Given the description of an element on the screen output the (x, y) to click on. 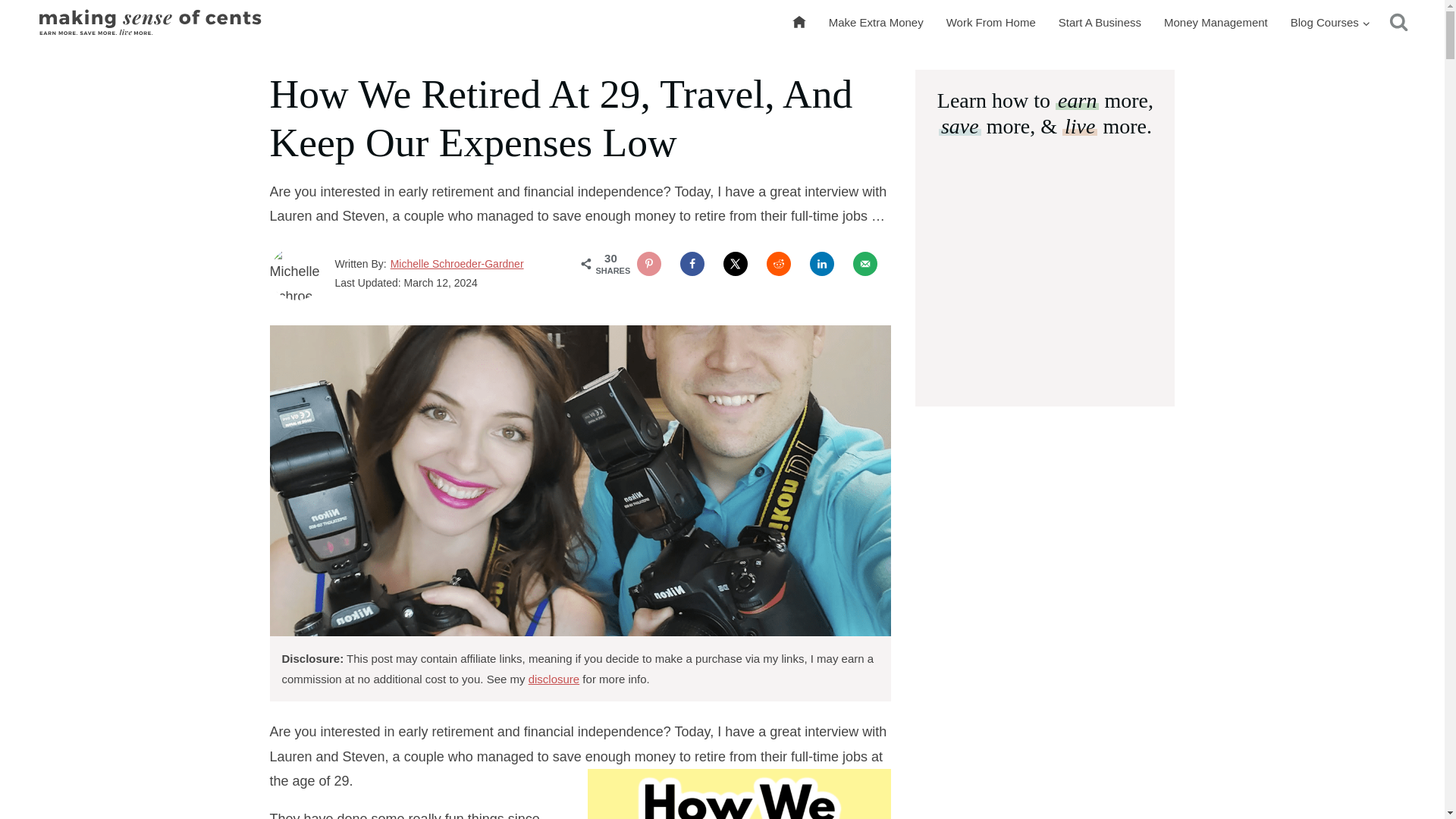
Money Management (1216, 22)
Start A Business (1099, 22)
Share on Facebook (691, 263)
disclosure (553, 678)
Work From Home (990, 22)
Save to Pinterest (649, 263)
Share on X (735, 263)
Share on LinkedIn (821, 263)
Blog Courses (1330, 22)
Michelle Schroeder-Gardner (457, 263)
Make Extra Money (875, 22)
Send over email (865, 263)
Share on Reddit (778, 263)
